Given the description of an element on the screen output the (x, y) to click on. 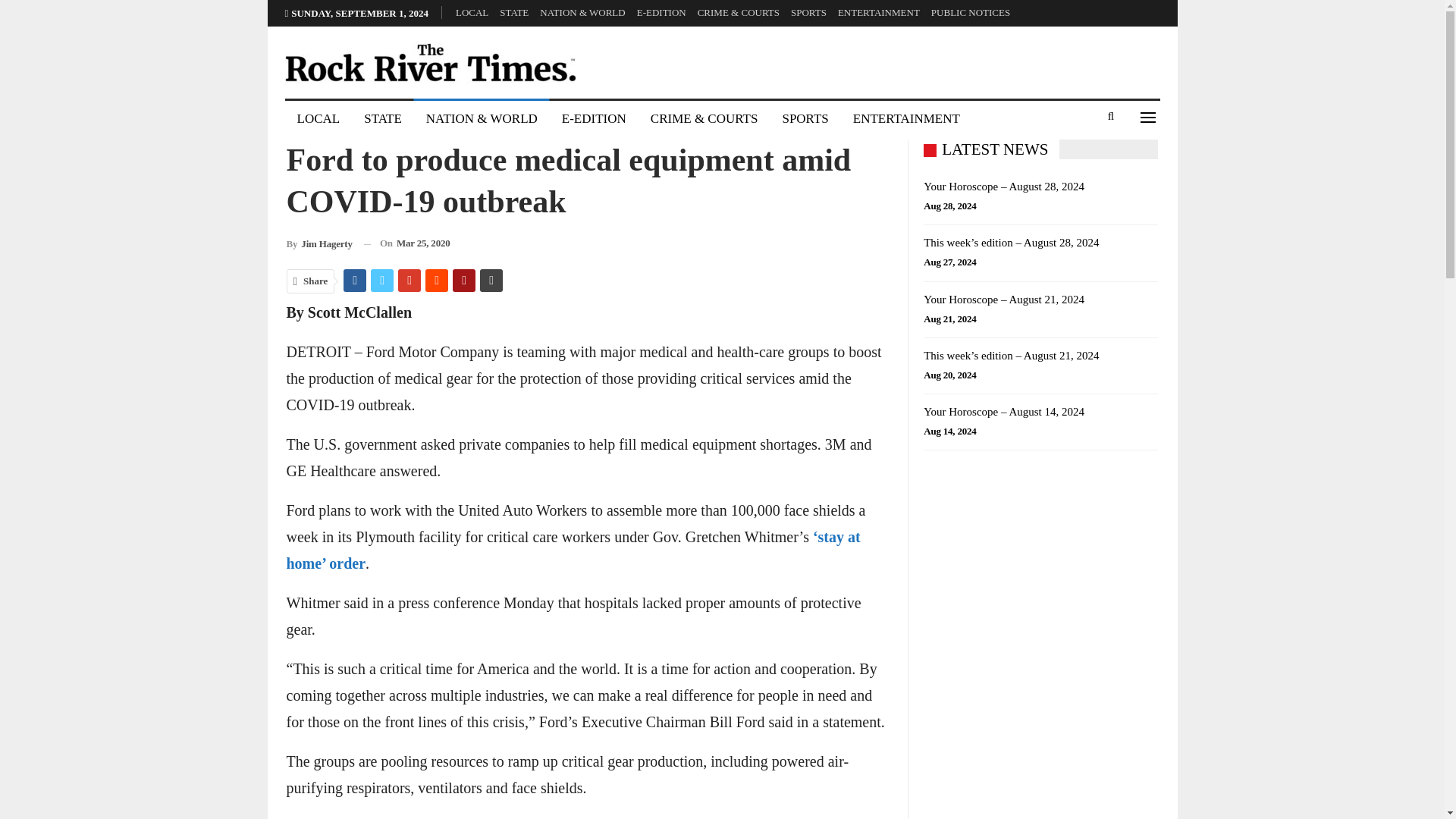
SPORTS (808, 12)
SPORTS (805, 118)
E-EDITION (661, 12)
Browse Author Articles (319, 243)
E-EDITION (594, 118)
LOCAL (471, 12)
LOCAL (318, 118)
STATE (513, 12)
STATE (382, 118)
PUBLIC NOTICES (970, 12)
